Given the description of an element on the screen output the (x, y) to click on. 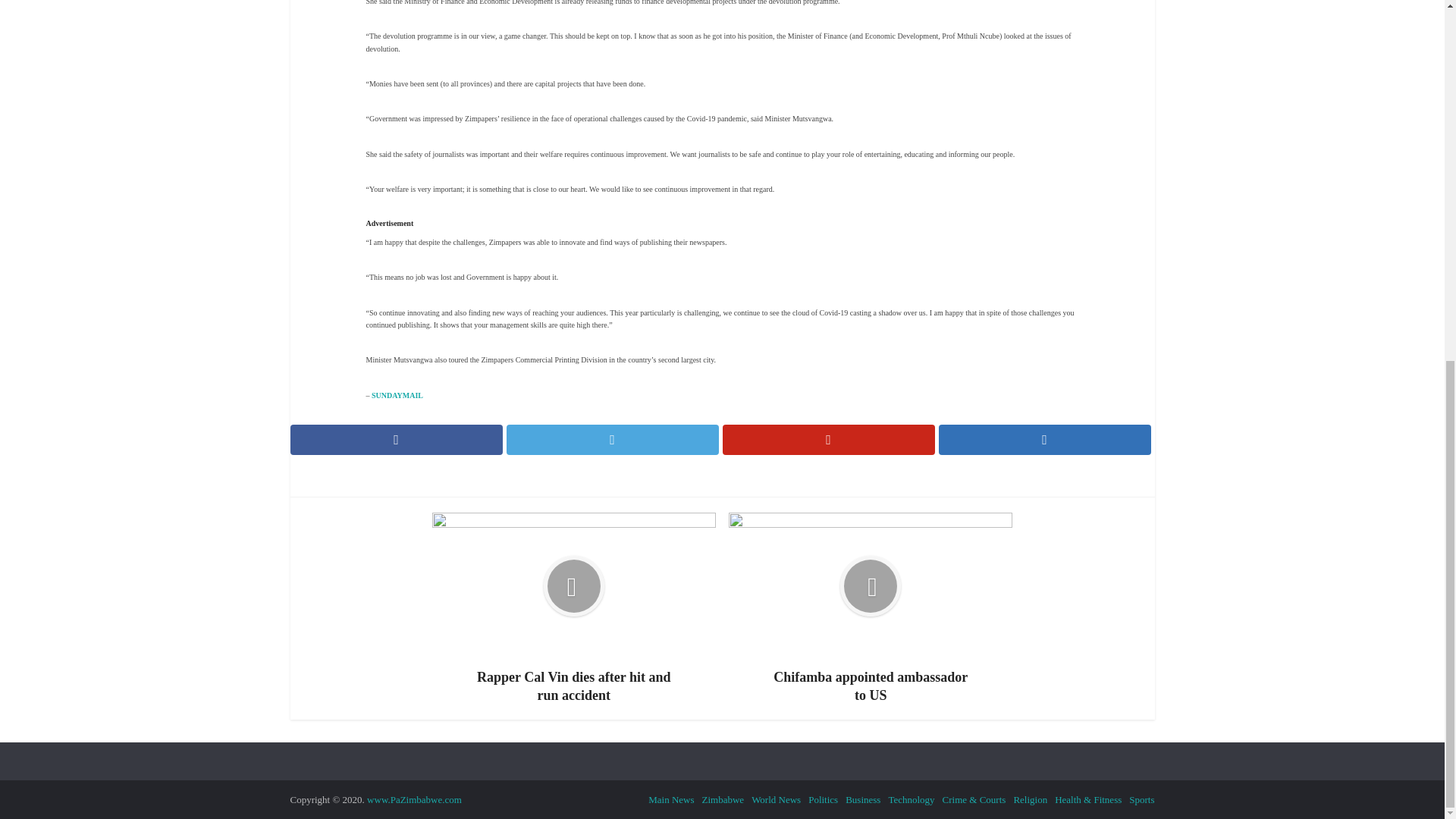
Main News (670, 799)
Politics (823, 799)
Business (862, 799)
Rapper Cal Vin dies after hit and run accident (574, 608)
SUNDAYMAIL (397, 395)
Religion (1029, 799)
Chifamba appointed ambassador to US (870, 608)
Technology (911, 799)
www.PaZimbabwe.com (413, 799)
Zimbabwe (722, 799)
World News (775, 799)
